Given the description of an element on the screen output the (x, y) to click on. 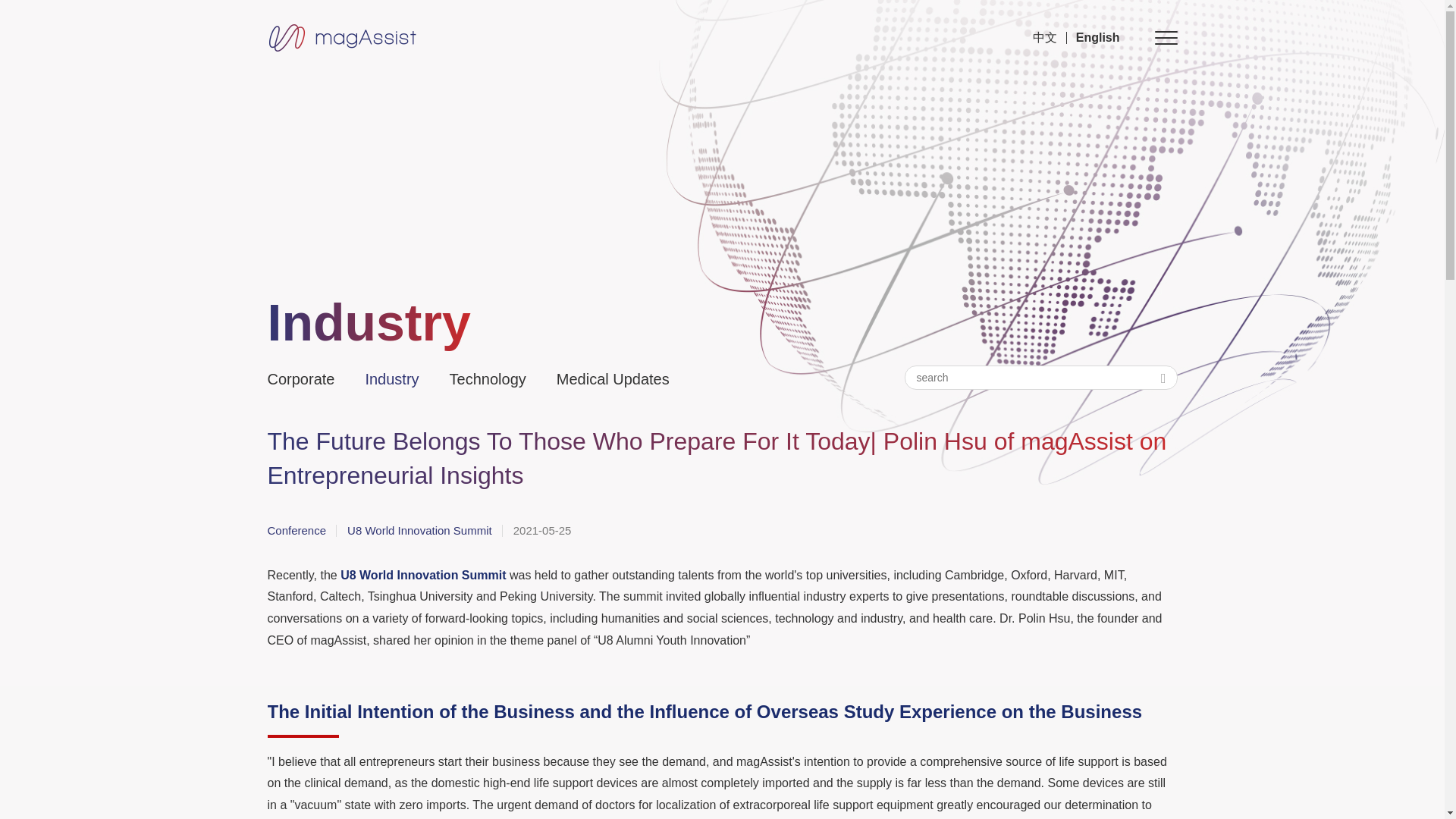
U8 World Innovation Summit (424, 530)
Conference (301, 530)
Technology (495, 379)
2021-05-25    (552, 530)
Corporate (307, 379)
Medical Updates (620, 379)
Industry (399, 379)
